Given the description of an element on the screen output the (x, y) to click on. 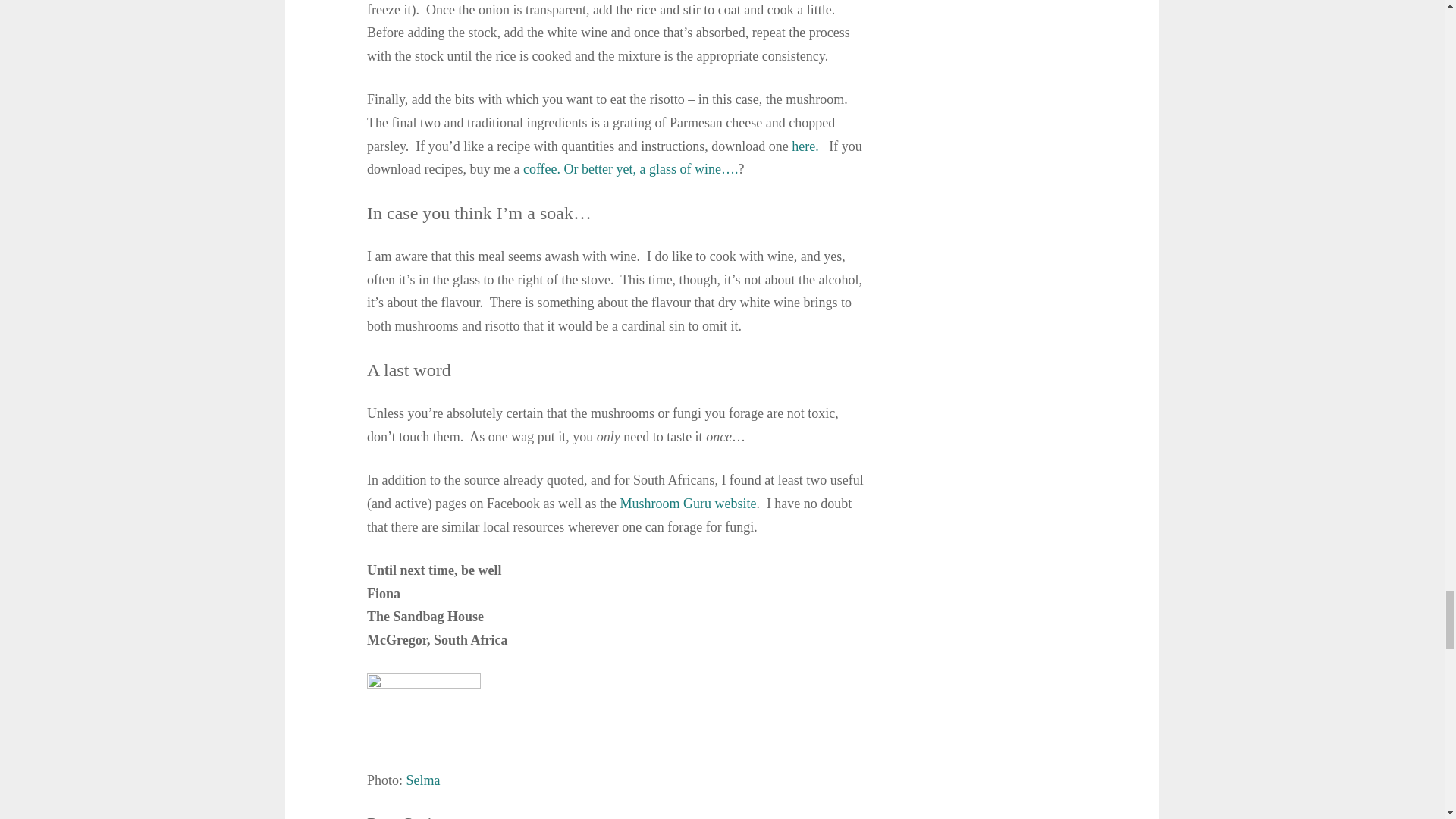
Selma (423, 780)
Mushroom Guru website (687, 503)
here.  (807, 145)
